Given the description of an element on the screen output the (x, y) to click on. 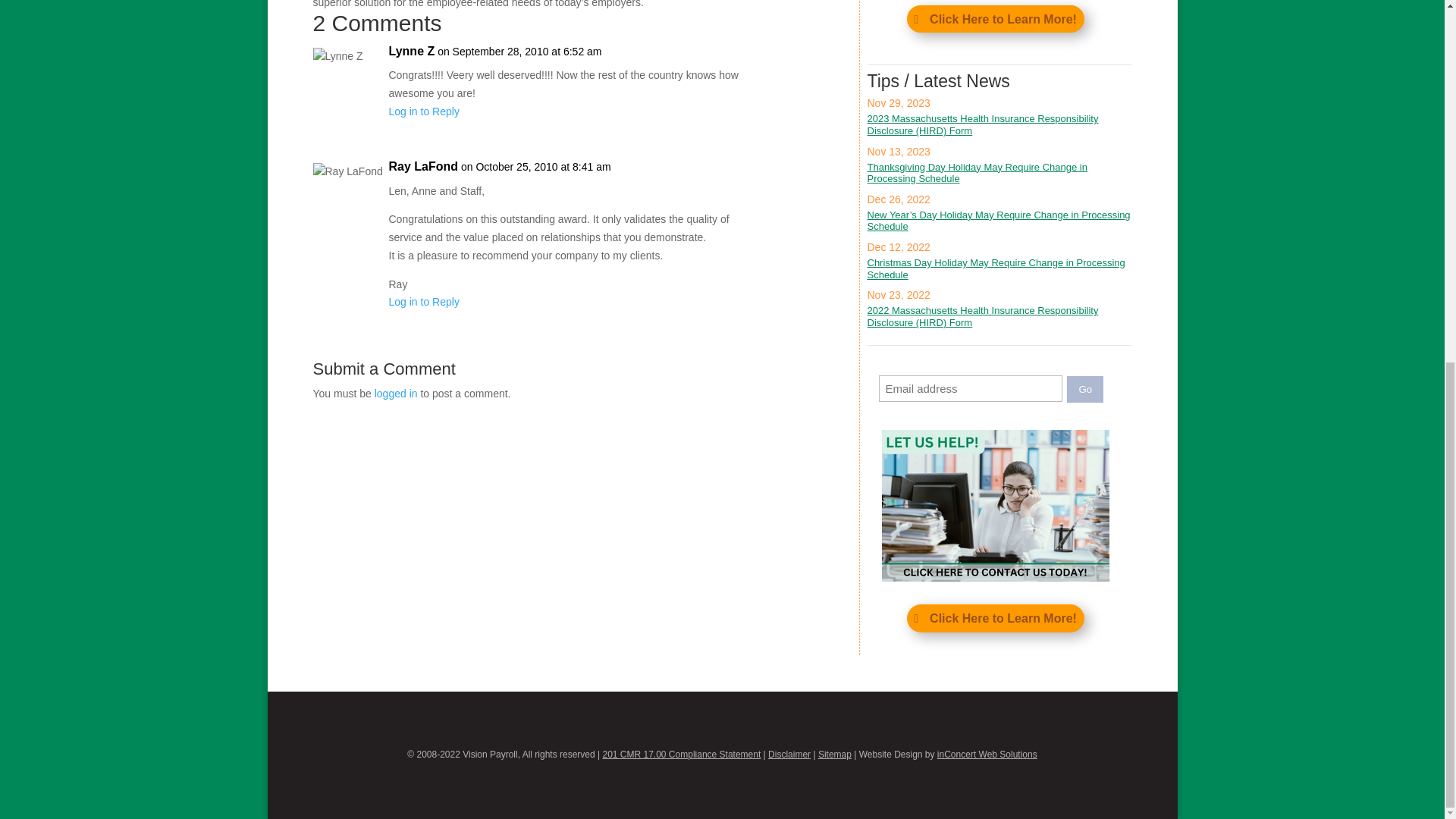
logged in (395, 393)
Vision Payroll - Let Us Help (995, 505)
Log in to Reply (423, 111)
Log in to Reply (423, 301)
Go (1085, 389)
